Given the description of an element on the screen output the (x, y) to click on. 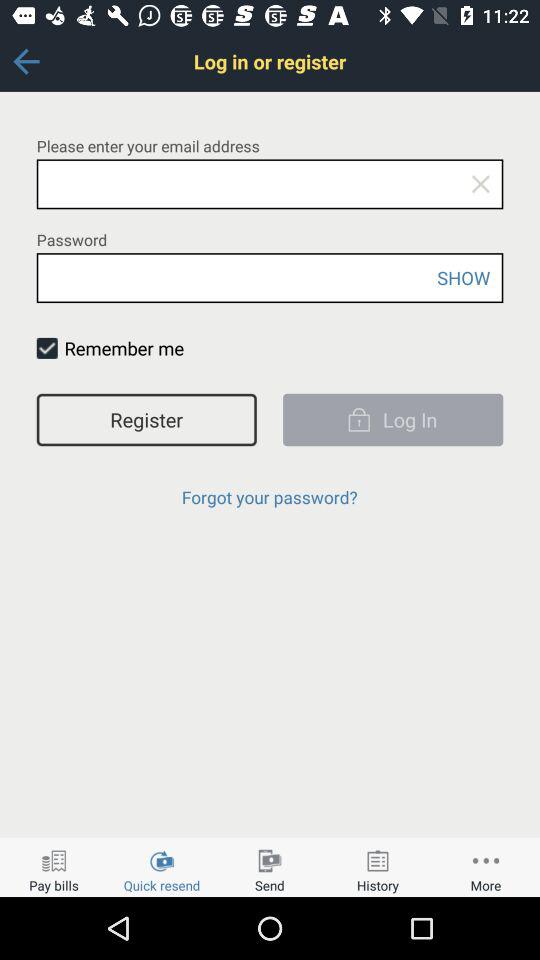
enter email id (269, 184)
